Given the description of an element on the screen output the (x, y) to click on. 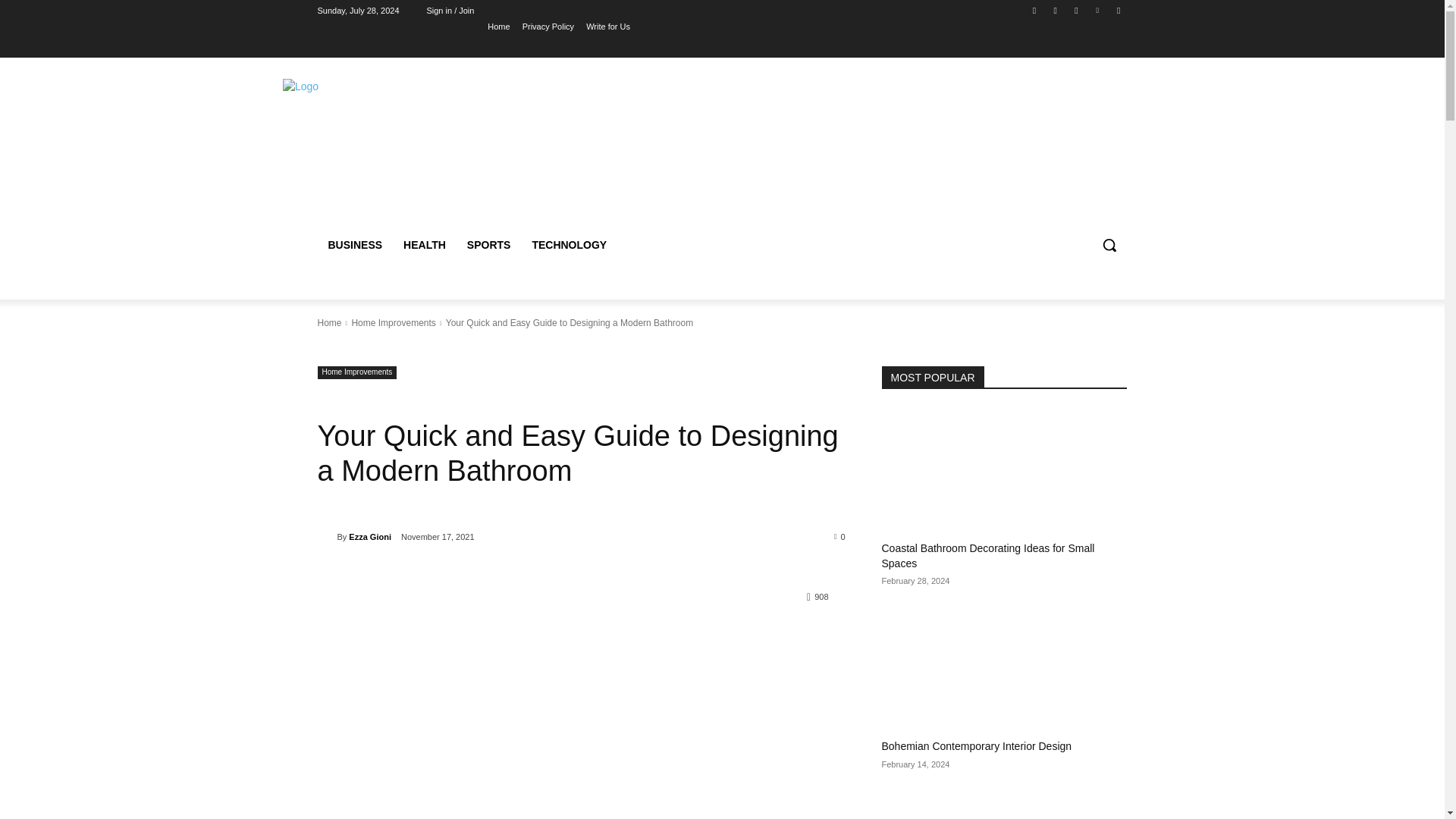
Privacy Policy (547, 25)
Instagram (1055, 9)
Ezza Gioni (326, 536)
SPORTS (489, 244)
Ezza Gioni (370, 536)
BUSINESS (355, 244)
Youtube (1117, 9)
Twitter (1075, 9)
Home (328, 322)
Facebook (1034, 9)
0 (839, 535)
Vimeo (1097, 9)
TECHNOLOGY (569, 244)
Home Improvements (356, 372)
View all posts in Home Improvements (392, 322)
